Given the description of an element on the screen output the (x, y) to click on. 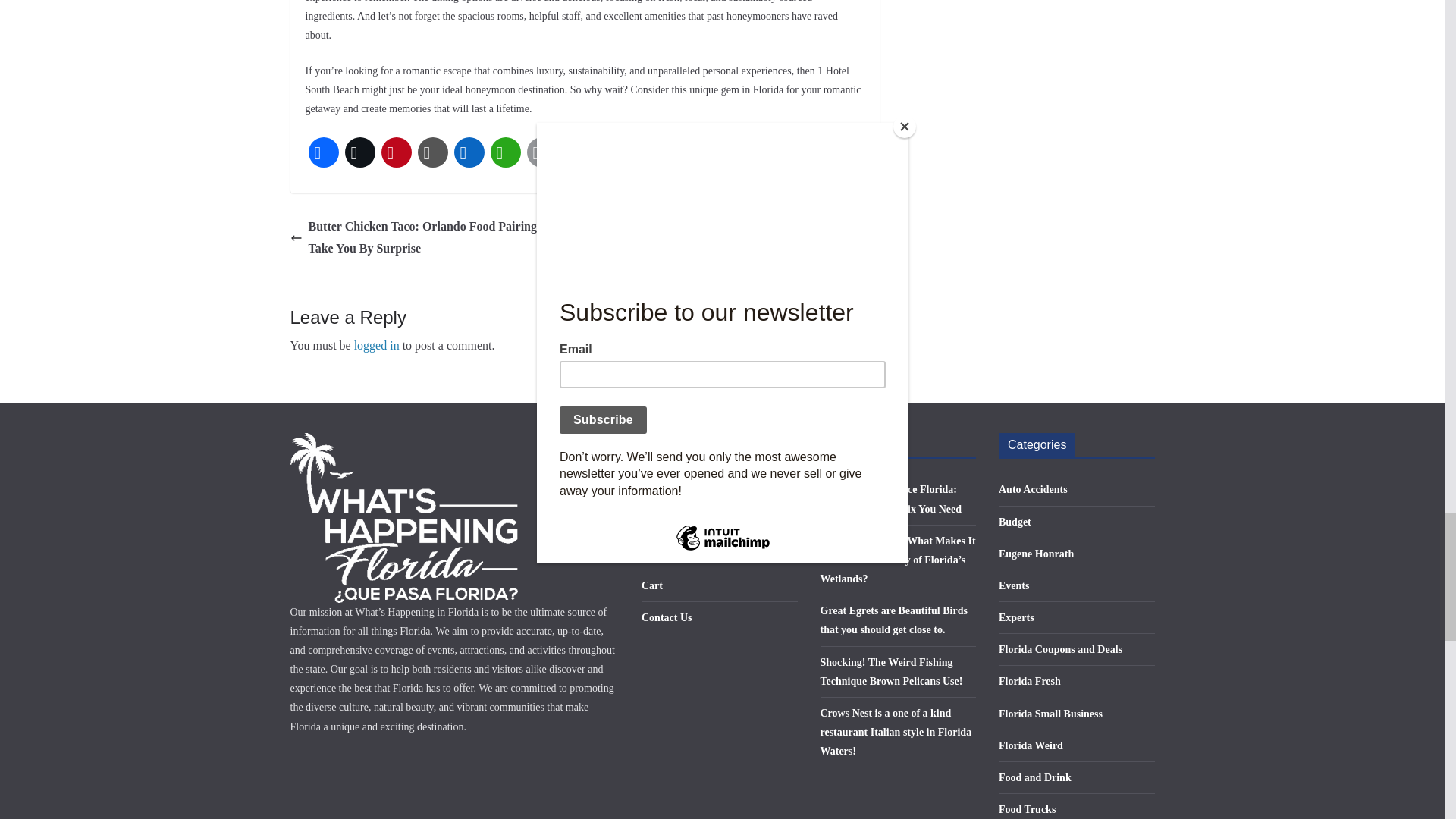
LinkedIn (467, 152)
Copy Link (431, 152)
Pinterest (395, 152)
WhatsApp (504, 152)
Facebook (322, 152)
